Given the description of an element on the screen output the (x, y) to click on. 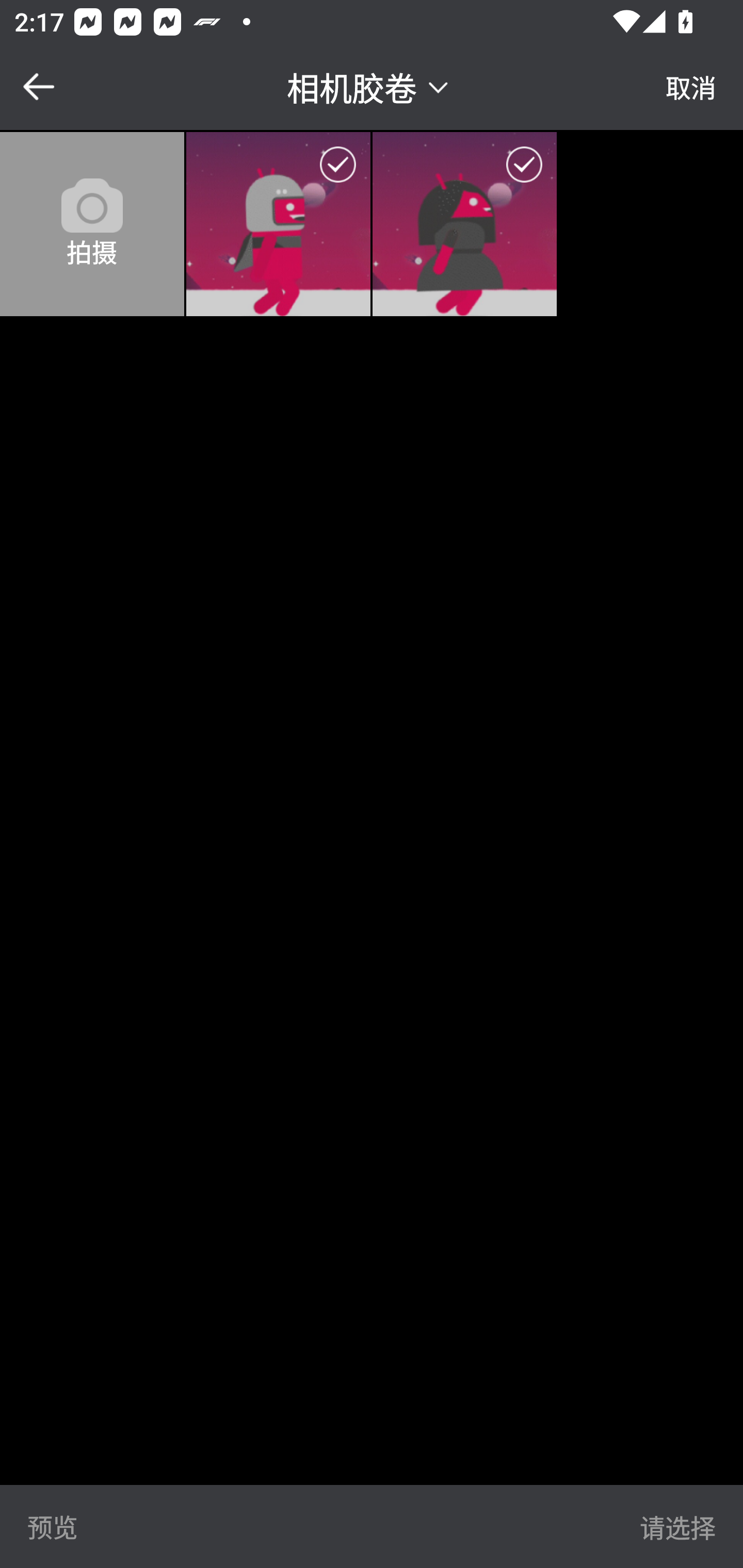
取消 (690, 86)
相机胶卷 (370, 85)
拍摄 (92, 223)
预览 (52, 1526)
请选择 (677, 1526)
